Given the description of an element on the screen output the (x, y) to click on. 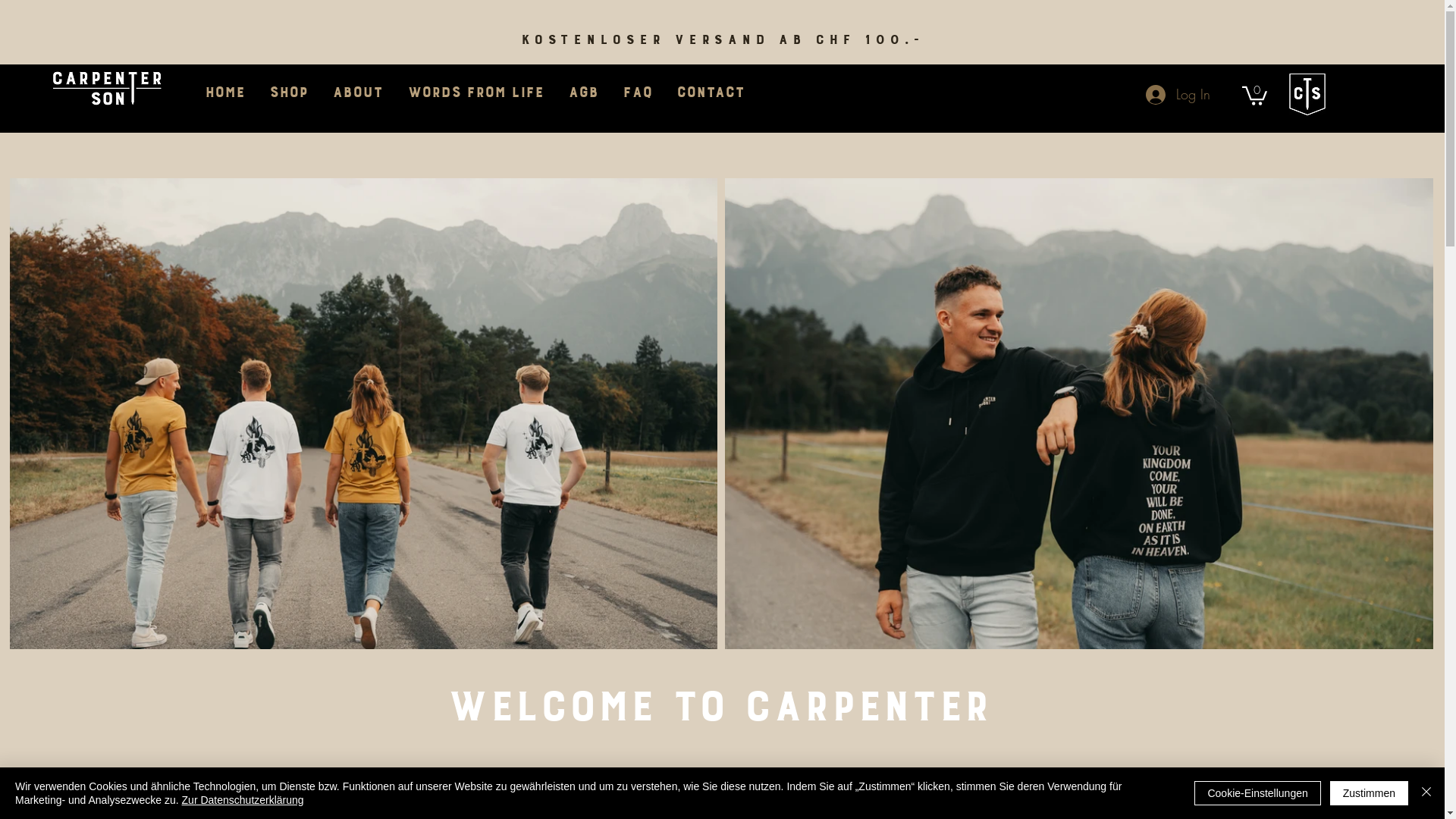
Zustimmen Element type: text (1369, 793)
Words from Life Element type: text (475, 92)
Contact Element type: text (710, 92)
0 Element type: text (1254, 94)
Home Element type: text (224, 92)
Cookie-Einstellungen Element type: text (1257, 793)
About Element type: text (357, 92)
FAQ Element type: text (637, 92)
Shop Element type: text (288, 92)
AGB Element type: text (582, 92)
Log In Element type: text (1177, 94)
